Given the description of an element on the screen output the (x, y) to click on. 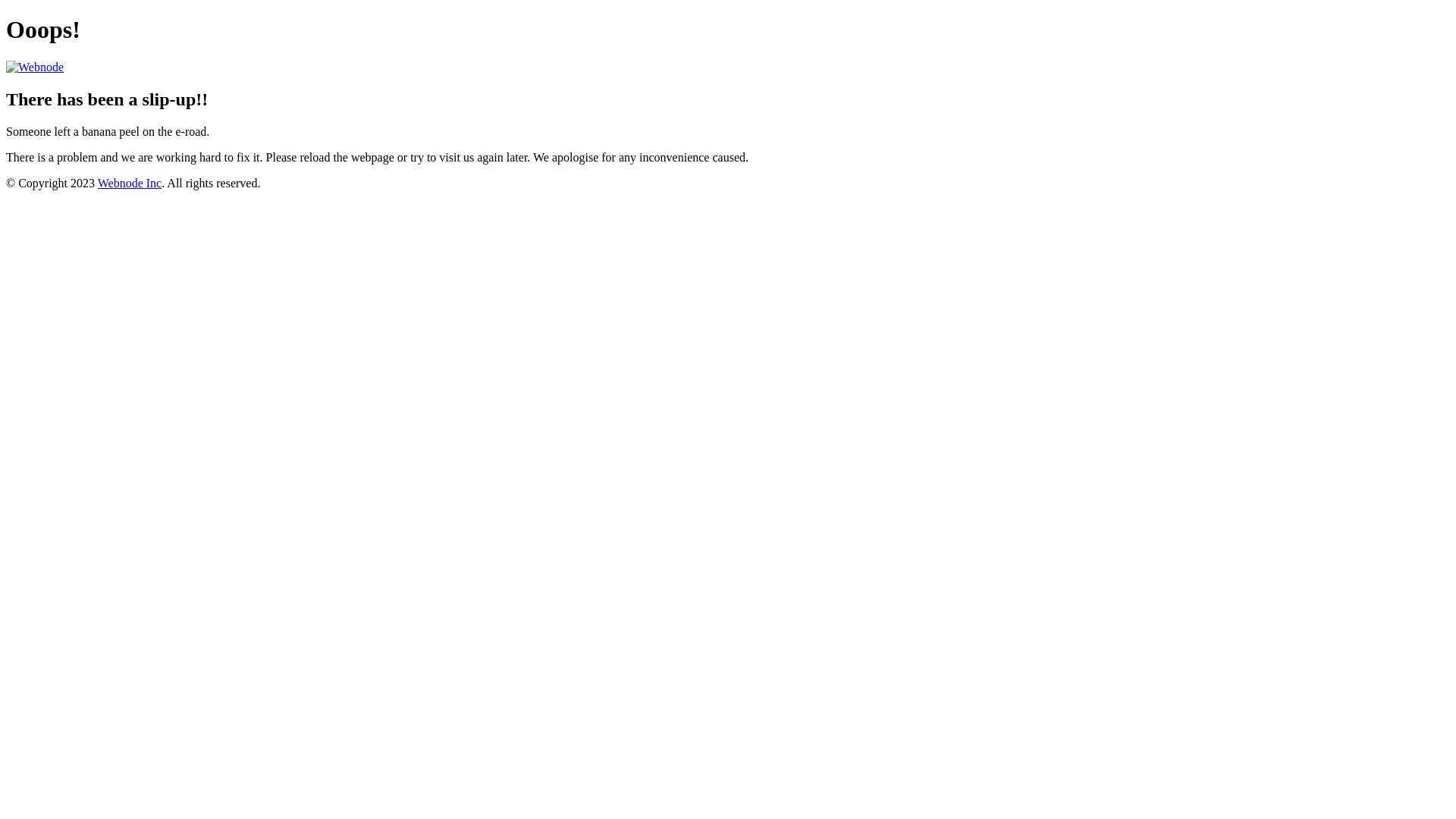
Webnode Inc Element type: text (129, 182)
